Given the description of an element on the screen output the (x, y) to click on. 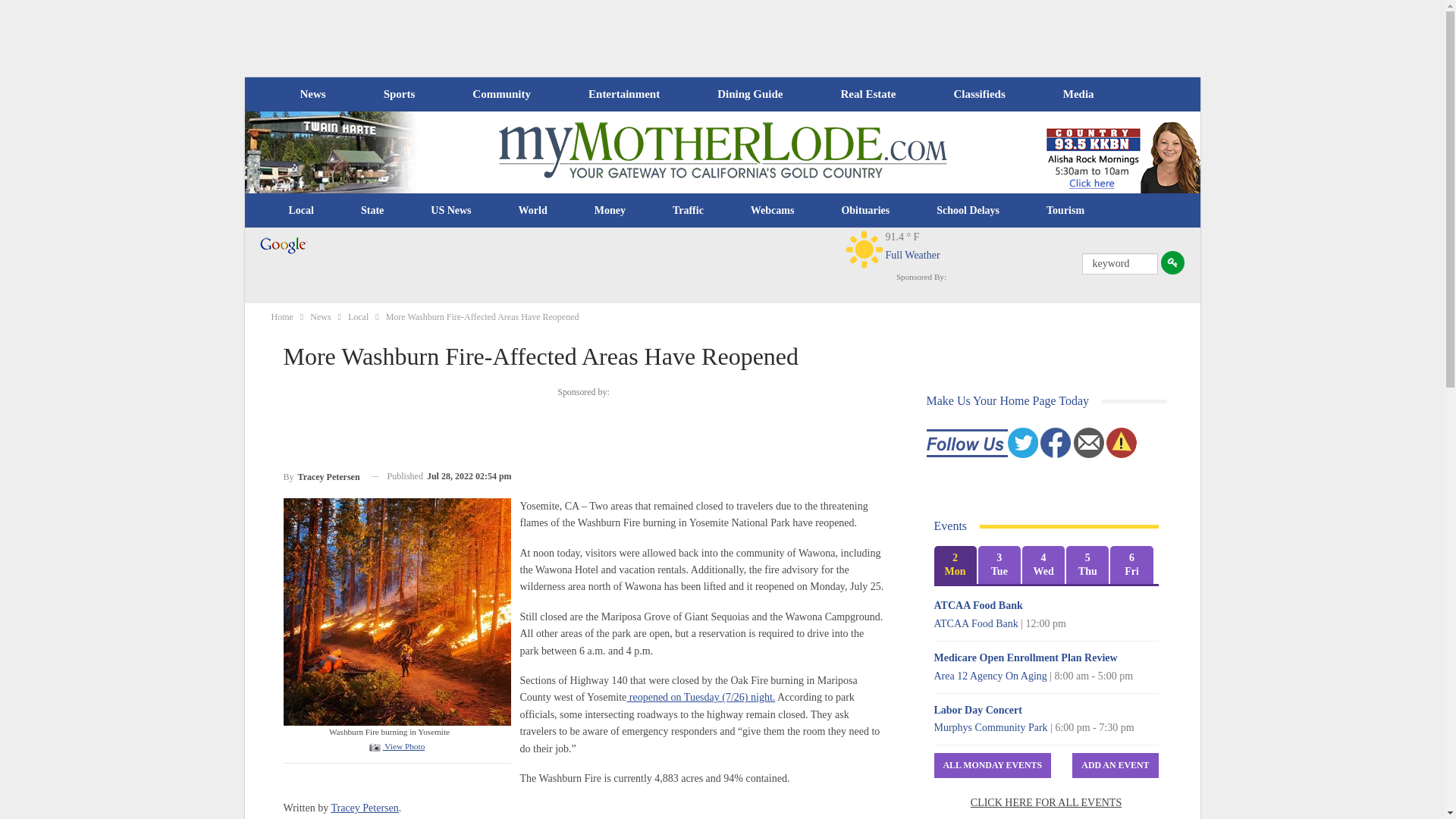
Dining Guide (749, 93)
US News (451, 210)
Real Estate (868, 93)
All Monday Events (992, 765)
Entertainment (624, 93)
Obituaries (865, 210)
Media (1078, 93)
Webcams (772, 210)
